Given the description of an element on the screen output the (x, y) to click on. 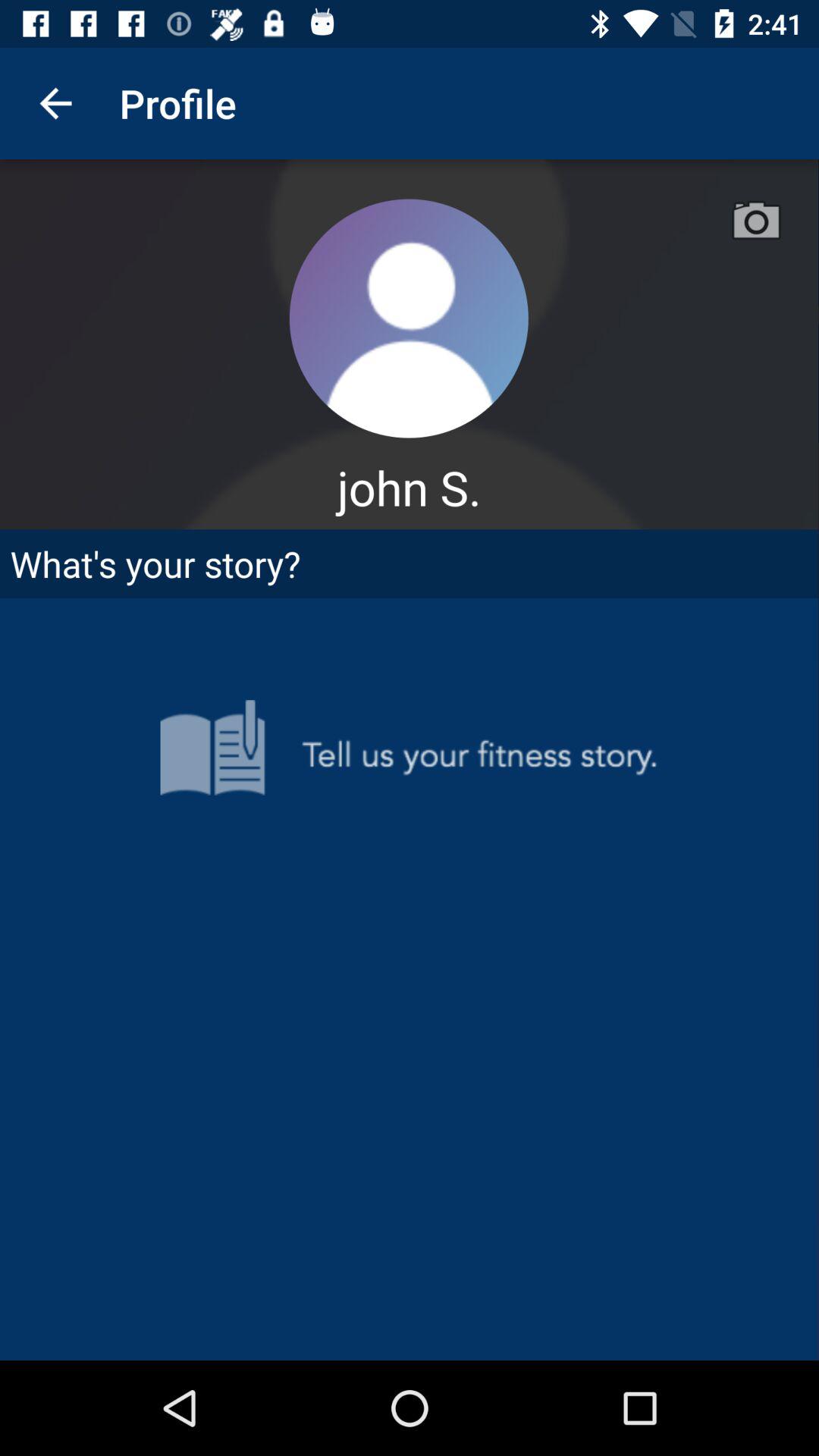
click on user image (408, 318)
select the camera icon beside profile icon (756, 221)
